Given the description of an element on the screen output the (x, y) to click on. 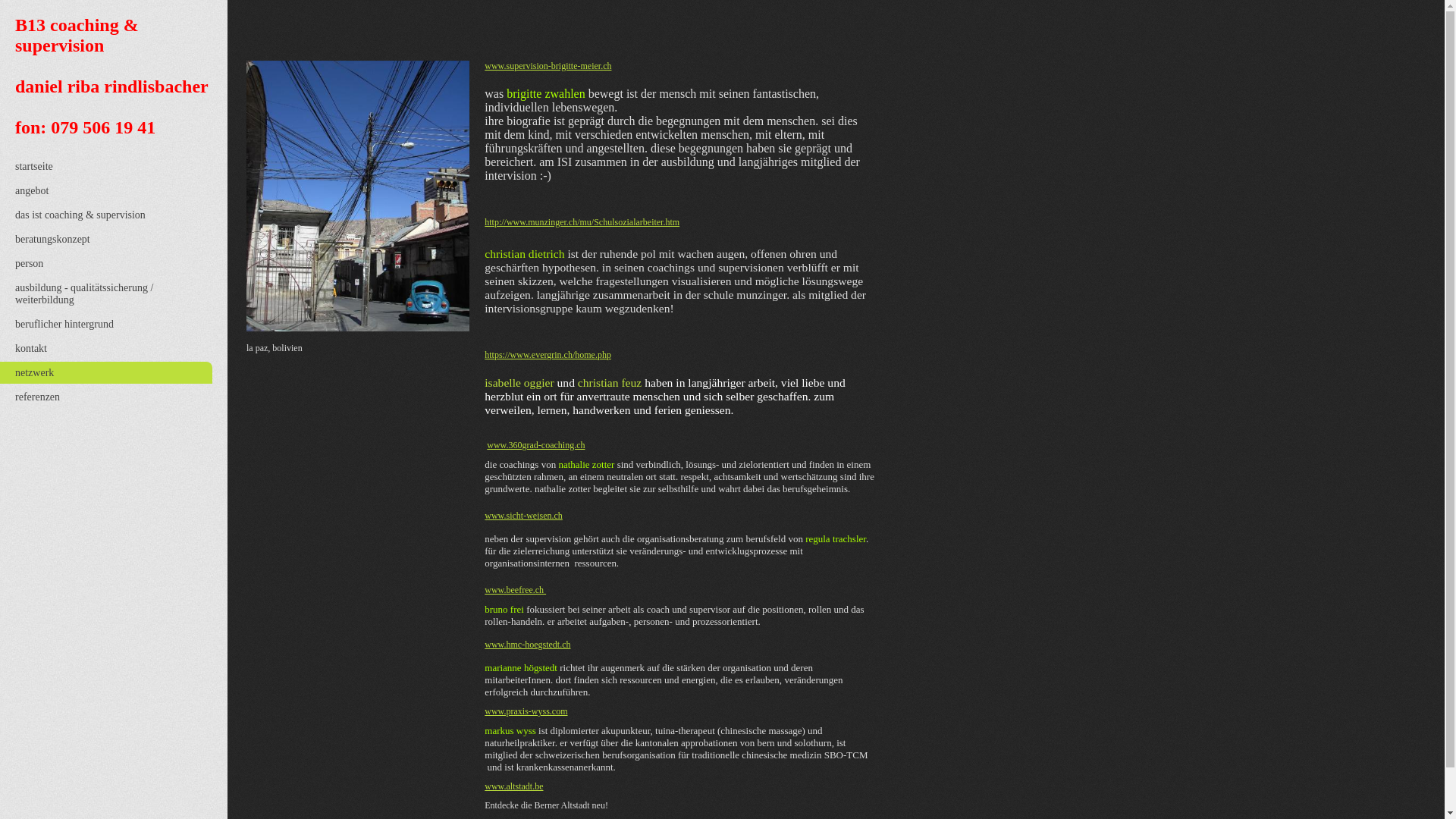
startseite Element type: text (34, 166)
https://www.evergrin.ch/home.php Element type: text (547, 354)
www.360grad-coaching.ch Element type: text (535, 444)
www.hmc-hoegstedt.ch Element type: text (527, 644)
person Element type: text (29, 263)
netzwerk Element type: text (34, 372)
kontakt Element type: text (31, 348)
http://www.munzinger.ch/mu/Schulsozialarbeiter.htm Element type: text (581, 221)
www.praxis-wyss.com Element type: text (525, 711)
beruflicher hintergrund Element type: text (64, 323)
www.supervision-brigitte-meier.ch Element type: text (547, 65)
angebot Element type: text (31, 190)
beratungskonzept Element type: text (52, 238)
referenzen Element type: text (37, 396)
www.sicht-weisen.ch Element type: text (523, 515)
das ist coaching & supervision Element type: text (80, 214)
www.beefree.ch  Element type: text (515, 589)
www.altstadt.be Element type: text (513, 786)
